Given the description of an element on the screen output the (x, y) to click on. 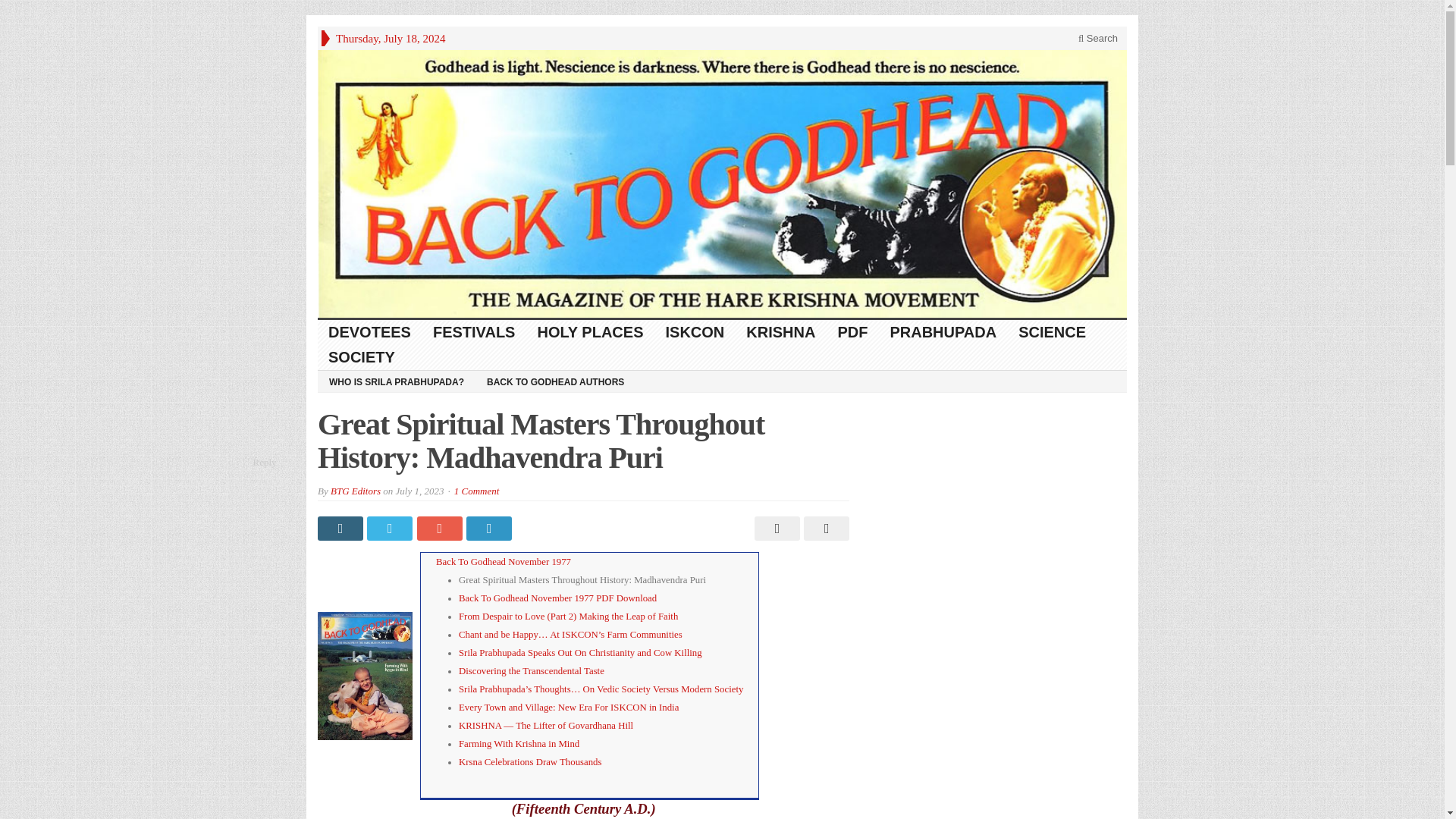
Search (1097, 37)
KRISHNA (781, 332)
ISKCON (695, 332)
DEVOTEES (369, 332)
HOLY PLACES (589, 332)
Every Town and Village: New Era For ISKCON in India (568, 706)
FESTIVALS (474, 332)
Back To Godhead November 1977 PDF Download (557, 597)
Back To Godhead November 1977 (502, 561)
Srila Prabhupada Speaks Out On Christianity and Cow Killing (579, 652)
Discovering the Transcendental Taste (531, 670)
